Given the description of an element on the screen output the (x, y) to click on. 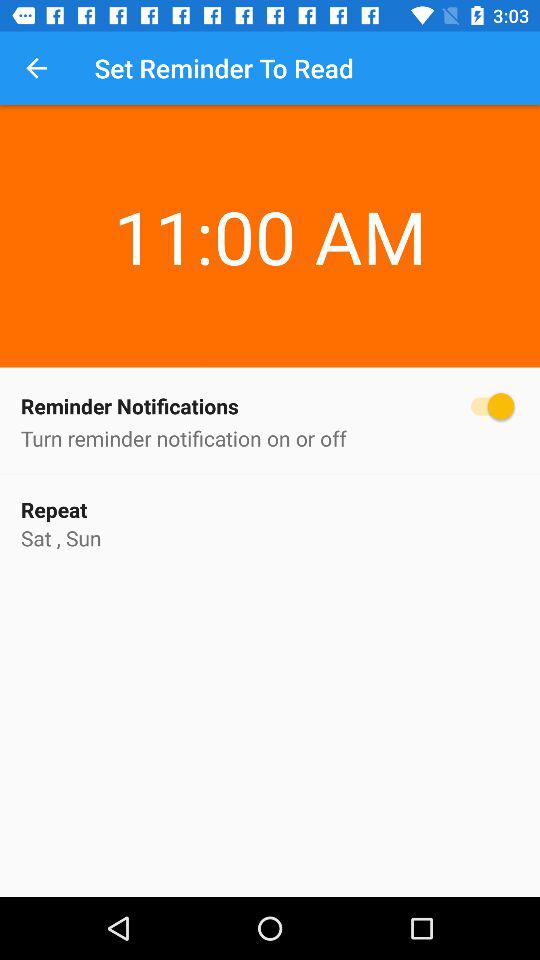
click item above reminder notifications icon (36, 68)
